Given the description of an element on the screen output the (x, y) to click on. 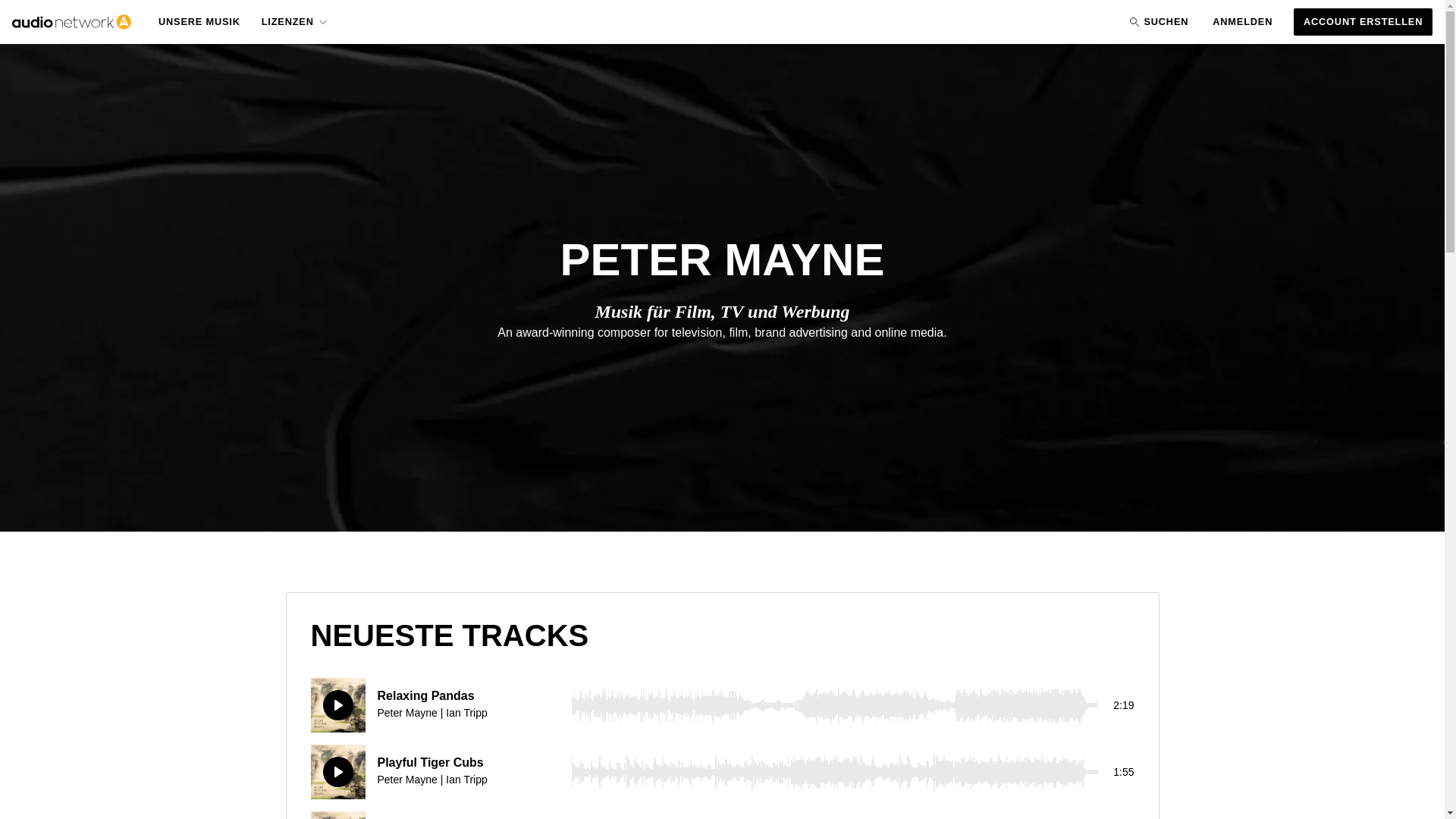
UNSERE MUSIK (199, 22)
ACCOUNT ERSTELLEN (1363, 21)
78 (834, 815)
ANMELDEN (1242, 22)
70 (834, 705)
LIZENZEN (295, 21)
SUCHEN (1156, 22)
58 (834, 771)
